Given the description of an element on the screen output the (x, y) to click on. 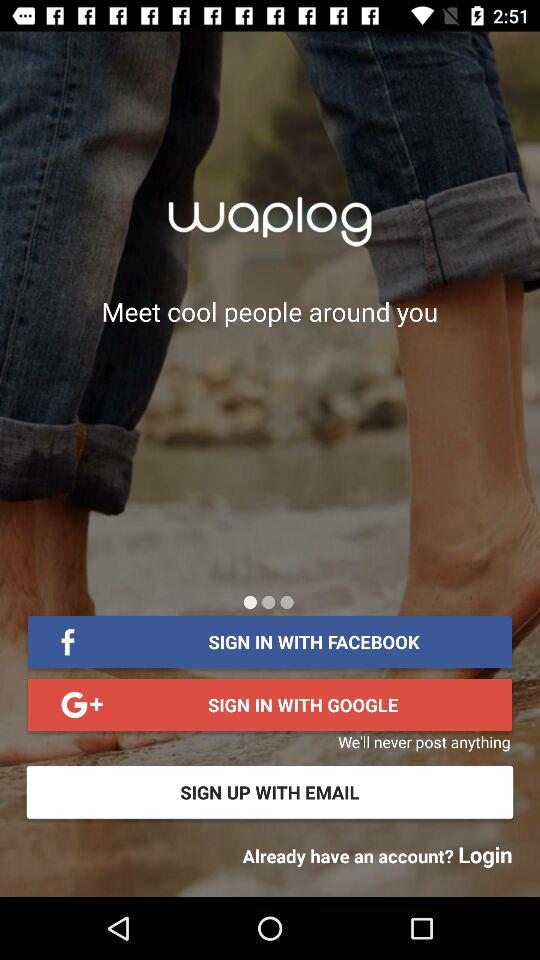
go to other scream (286, 602)
